Given the description of an element on the screen output the (x, y) to click on. 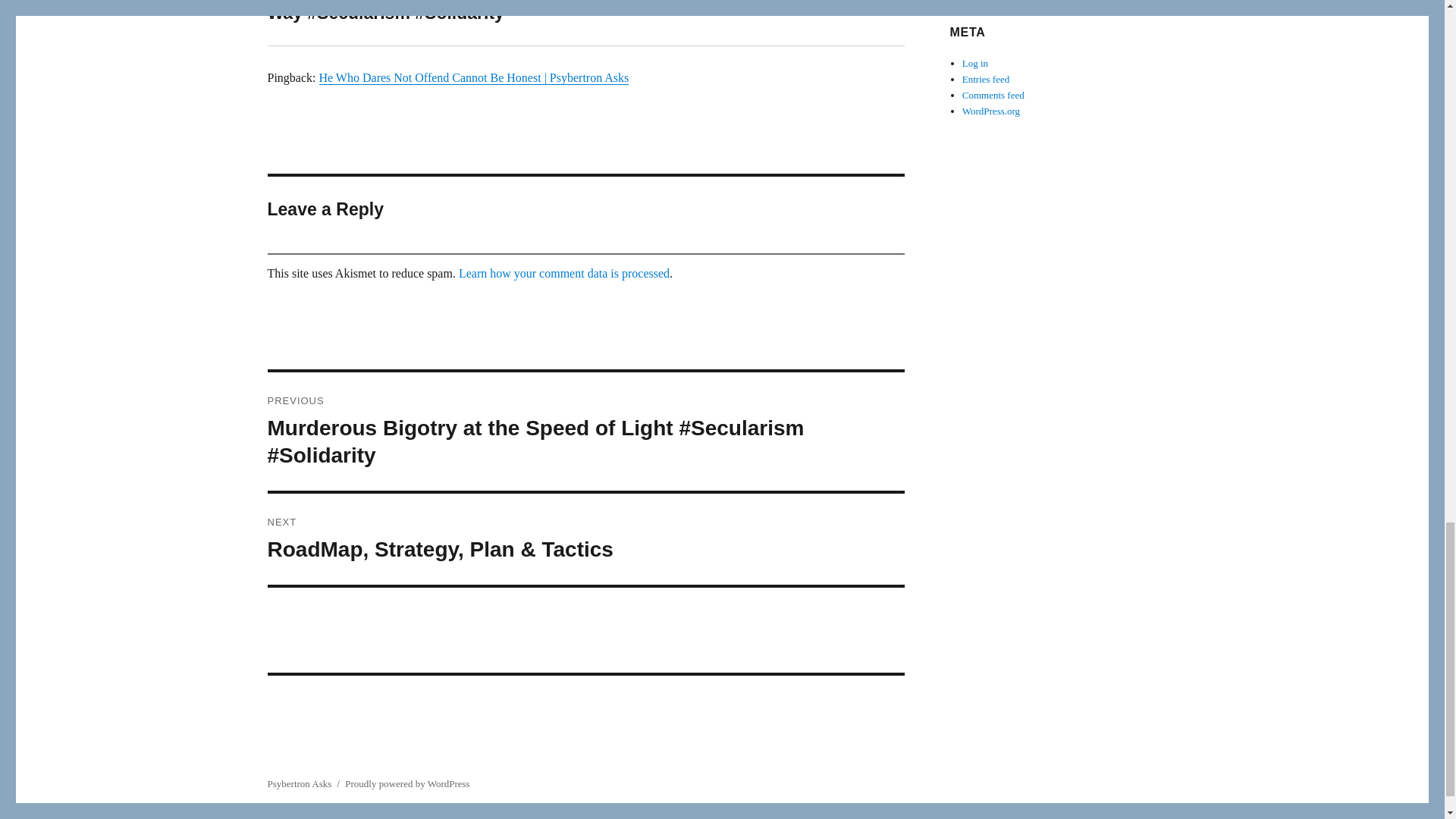
Learn how your comment data is processed (563, 273)
